Given the description of an element on the screen output the (x, y) to click on. 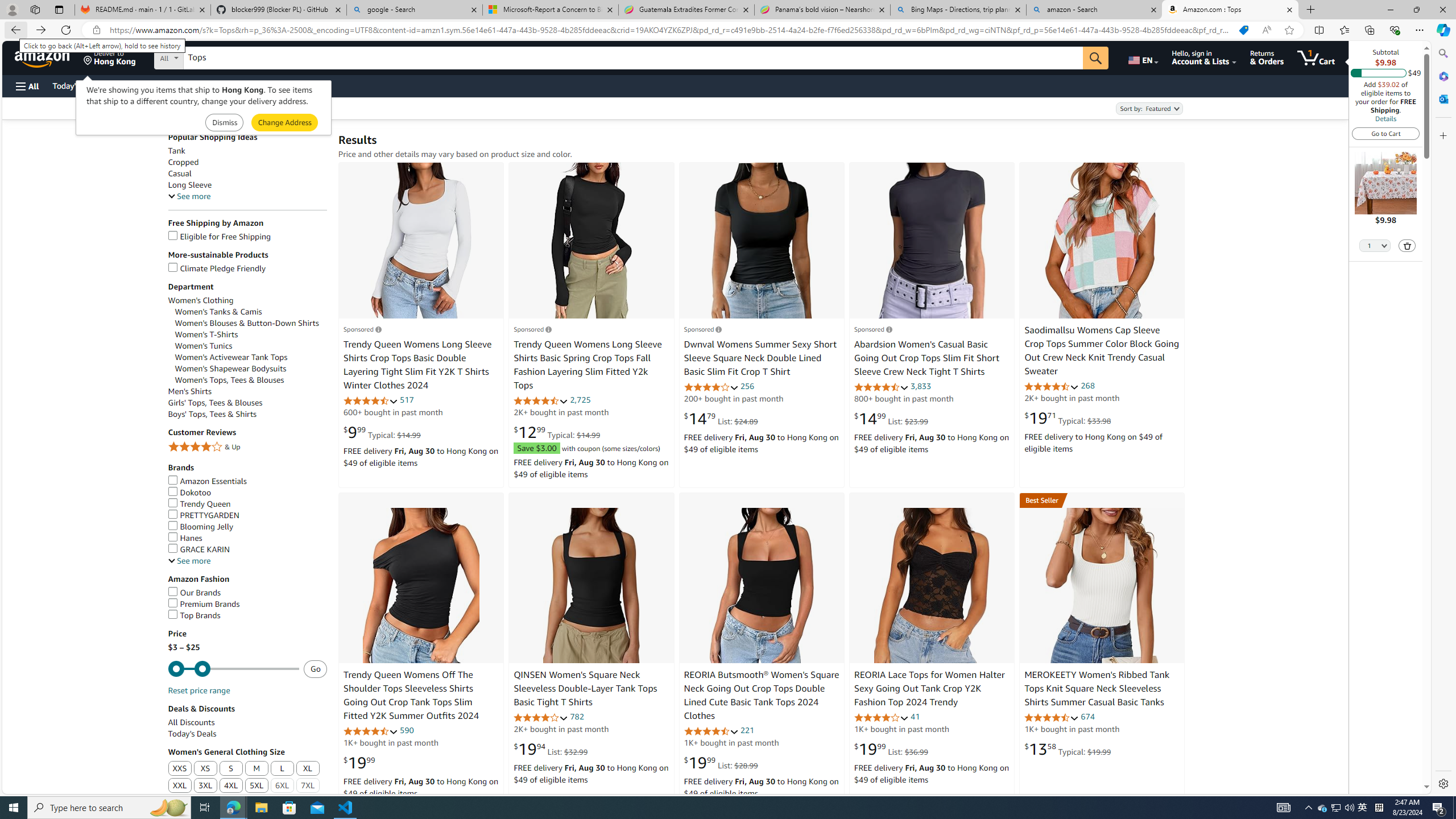
4XL (230, 785)
Our Brands (194, 592)
Gift Cards (251, 85)
Hanes (184, 537)
L (282, 769)
Trendy Queen (199, 503)
256 (746, 385)
XL (307, 768)
4 Stars & Up& Up (247, 447)
Today's Deals (247, 733)
L (282, 768)
All Discounts (247, 722)
1 item in cart (1315, 57)
